Given the description of an element on the screen output the (x, y) to click on. 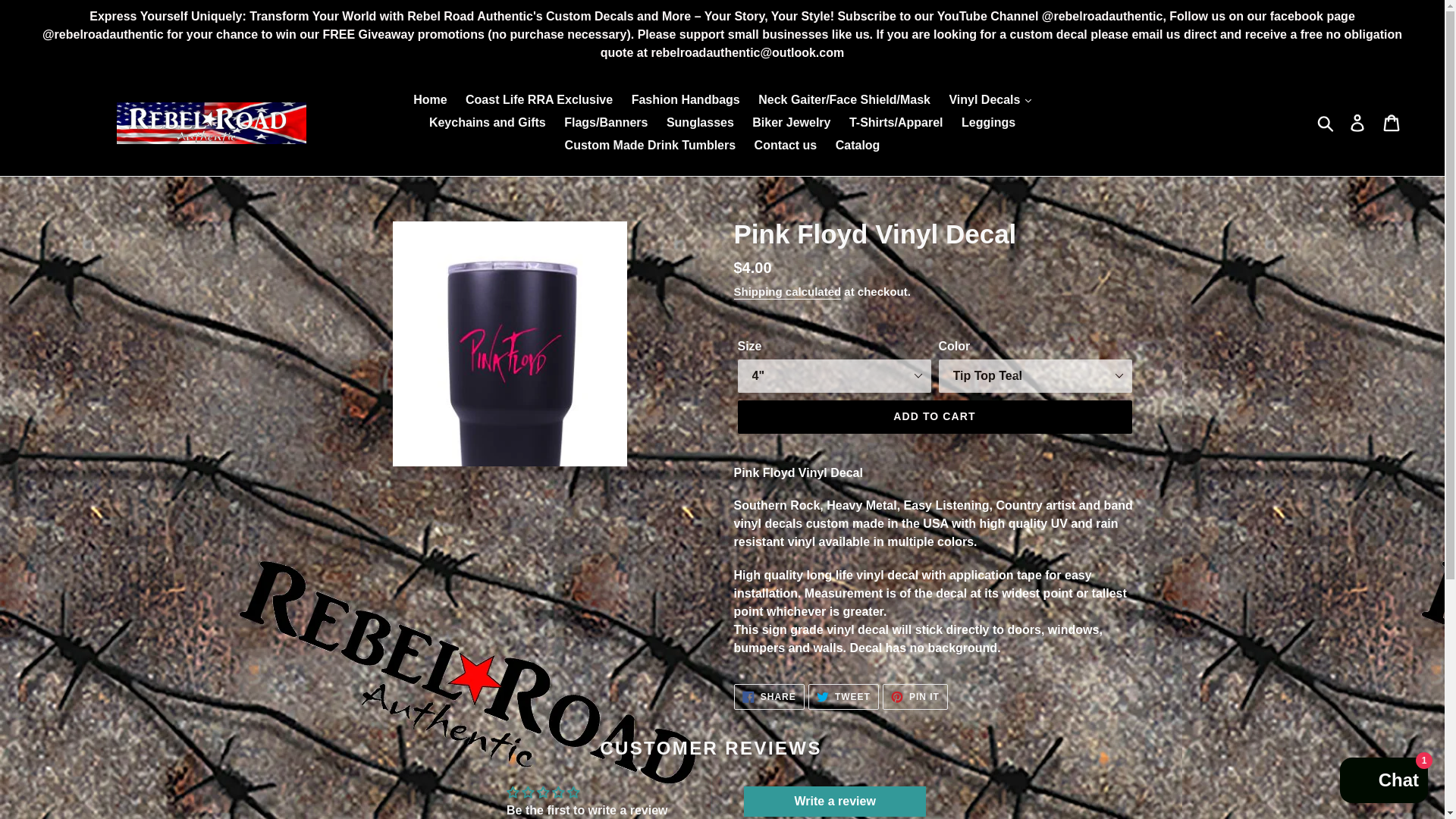
Custom Made Drink Tumblers (650, 145)
Cart (1392, 122)
Coast Life RRA Exclusive (539, 99)
Keychains and Gifts (487, 122)
Sunglasses (700, 122)
Catalog (858, 145)
Fashion Handbags (686, 99)
Home (430, 99)
Leggings (988, 122)
Submit (1326, 122)
Biker Jewelry (791, 122)
Shopify online store chat (1383, 781)
Contact us (785, 145)
Log in (1357, 122)
